Given the description of an element on the screen output the (x, y) to click on. 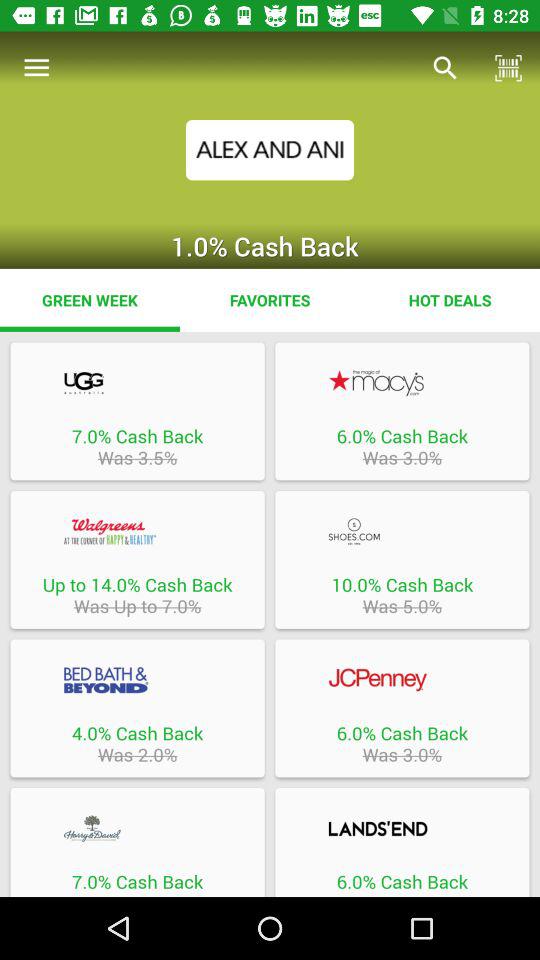
open the brand jcpenny (402, 679)
